Given the description of an element on the screen output the (x, y) to click on. 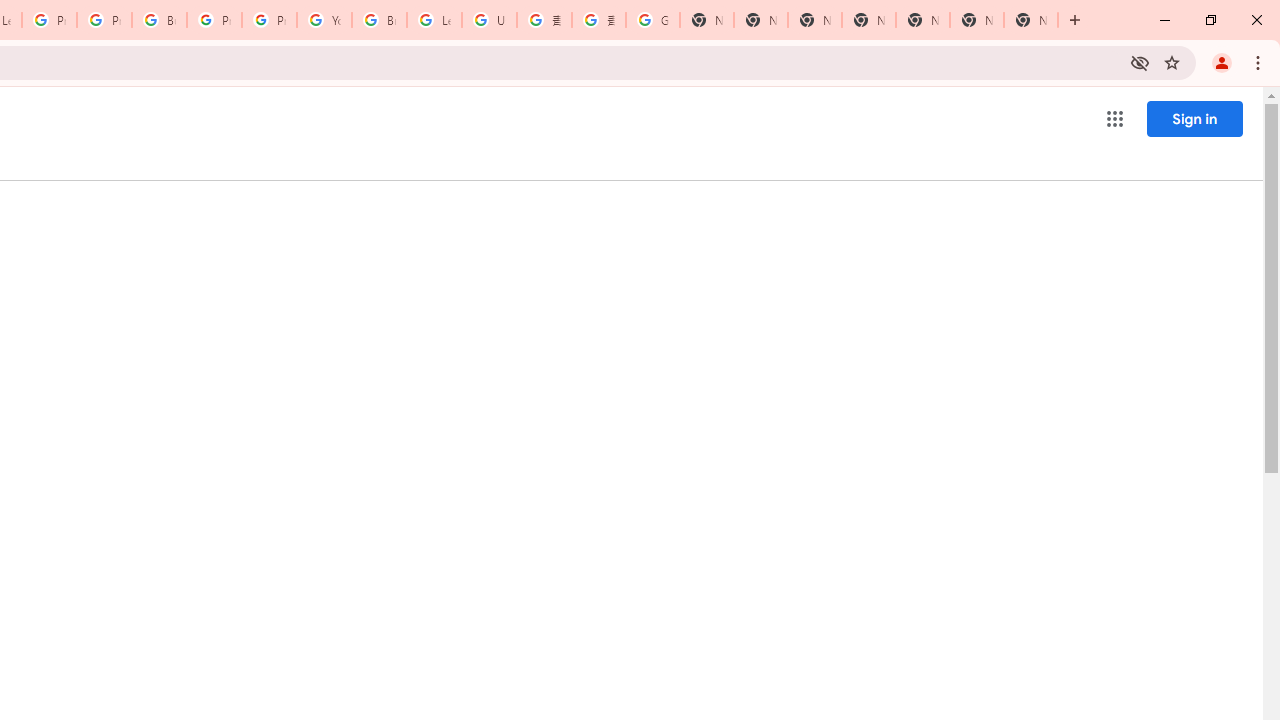
New Tab (868, 20)
YouTube (324, 20)
